Given the description of an element on the screen output the (x, y) to click on. 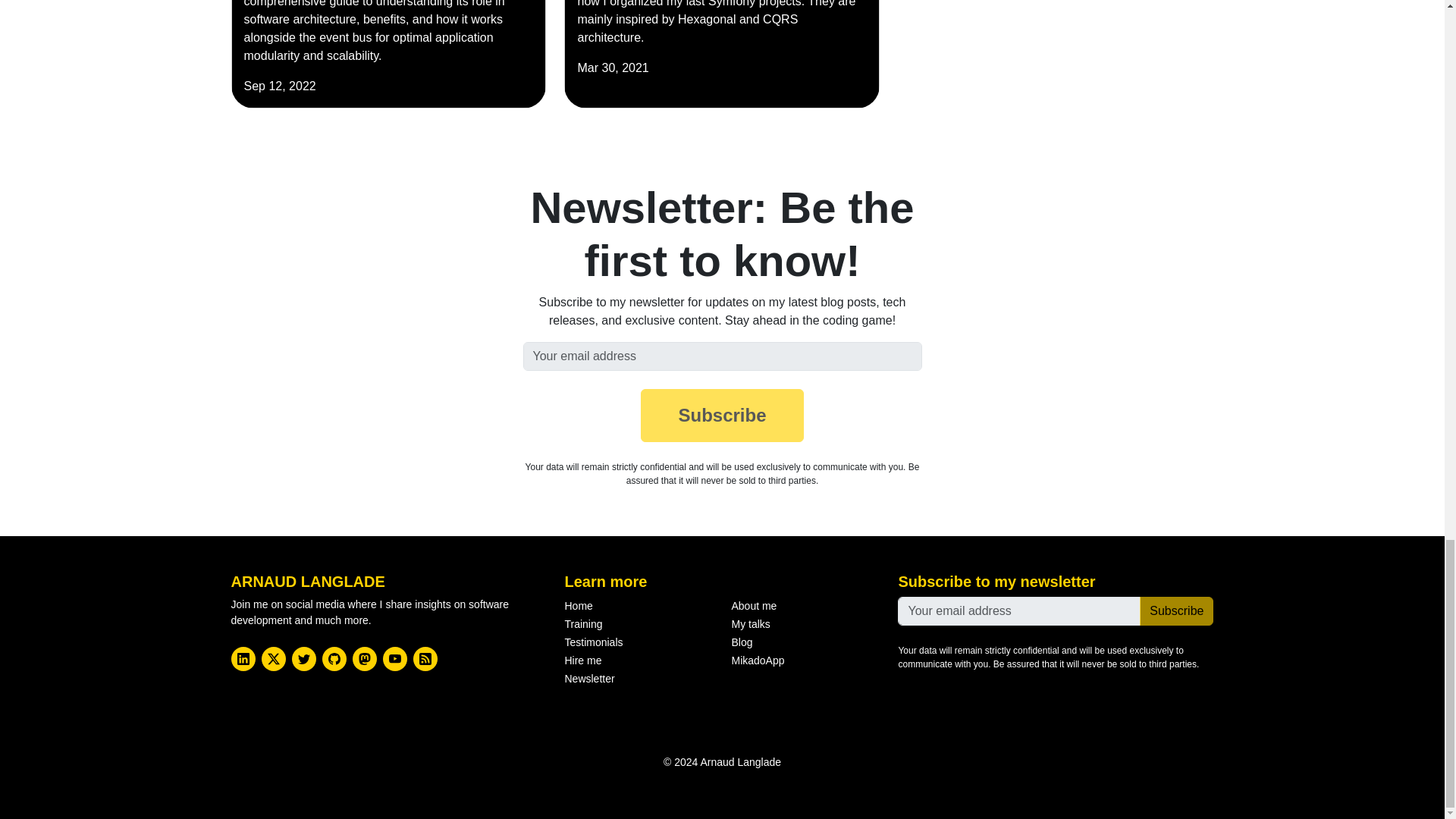
rss (424, 658)
Home (578, 605)
Training (583, 623)
My talks (750, 623)
linkedin (241, 658)
Subscribe (721, 415)
mastodon (363, 658)
x (272, 658)
About me (753, 605)
bluesky (302, 658)
github (333, 658)
youtube (394, 658)
